Given the description of an element on the screen output the (x, y) to click on. 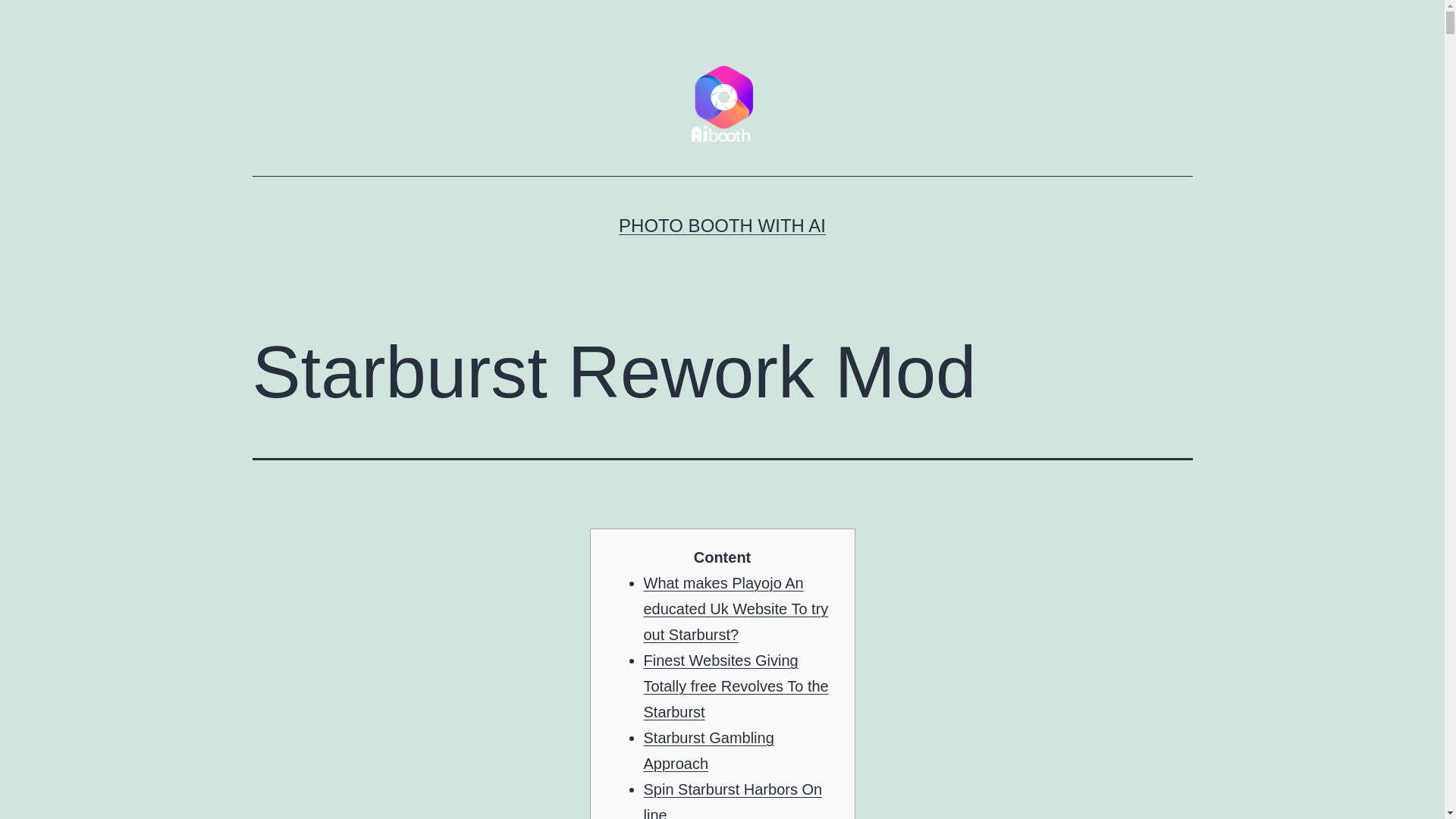
Spin Starburst Harbors On line (732, 800)
PHOTO BOOTH WITH AI (721, 225)
Starburst Gambling Approach (708, 750)
